Given the description of an element on the screen output the (x, y) to click on. 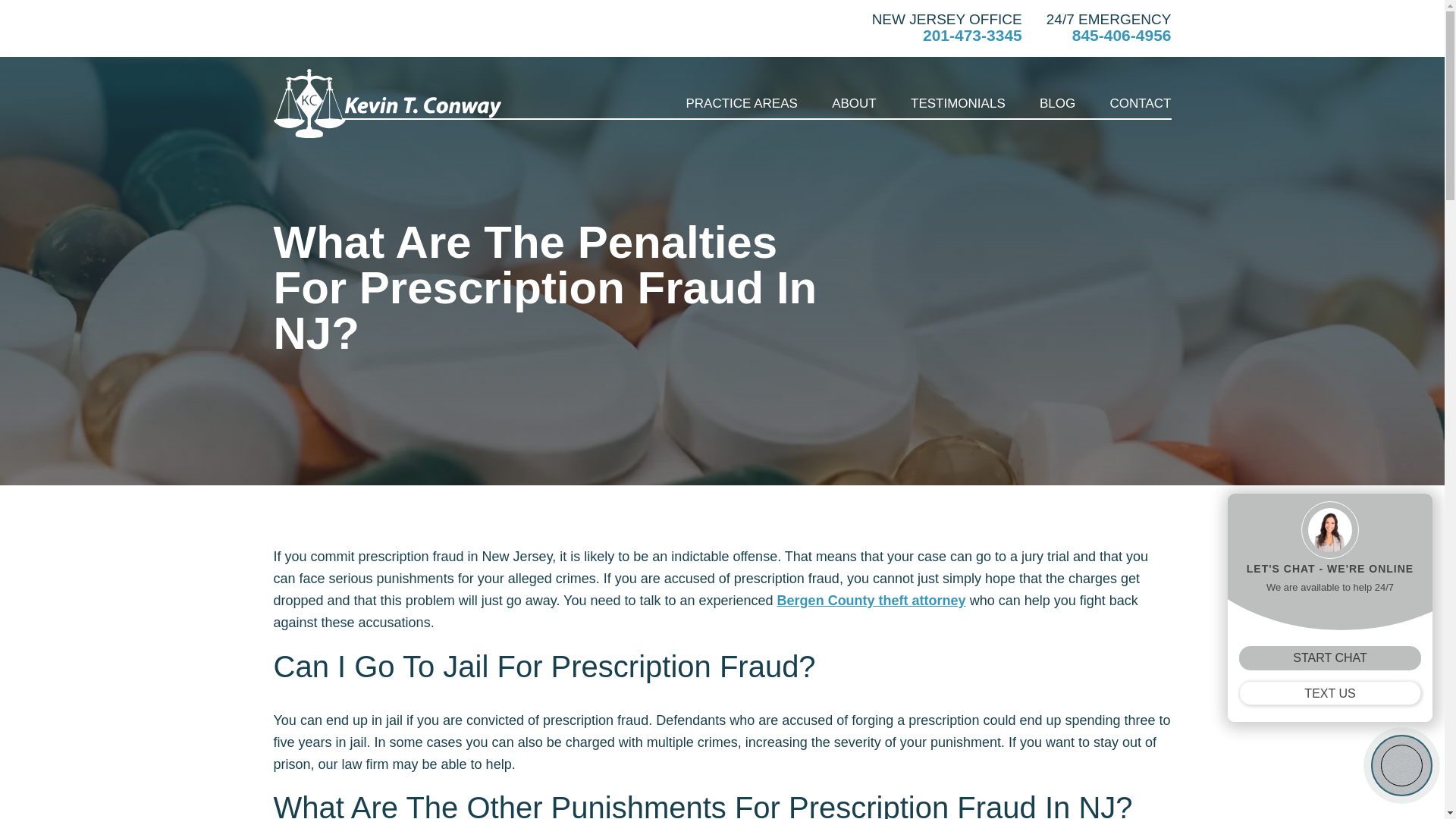
845-406-4956 (1109, 35)
201-473-3345 (947, 35)
